Given the description of an element on the screen output the (x, y) to click on. 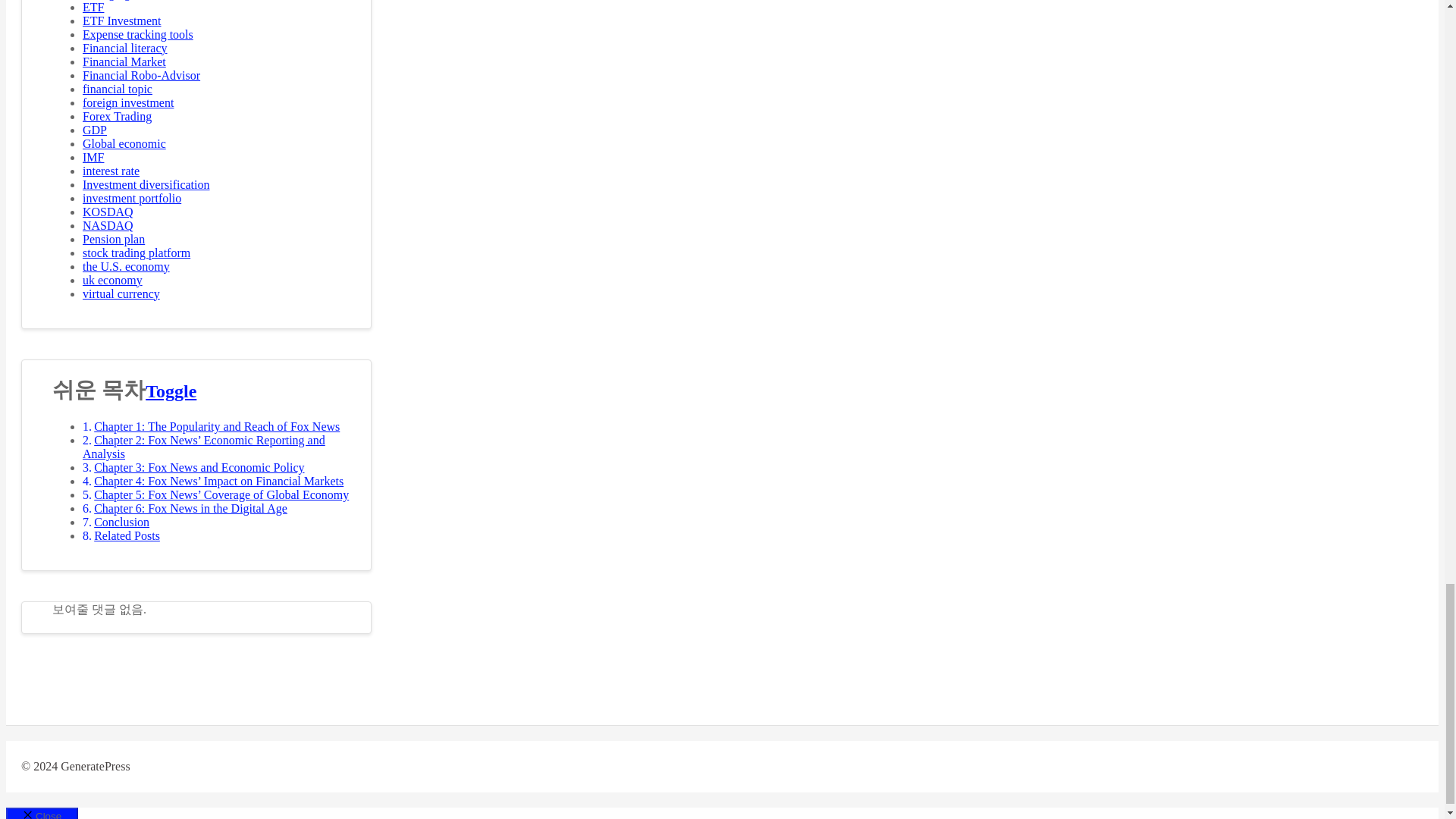
Chapter 3: Fox News and Economic Policy (199, 467)
Chapter 6: Fox News in the Digital Age (190, 508)
Chapter 1: The Popularity and Reach of Fox News (216, 426)
